Given the description of an element on the screen output the (x, y) to click on. 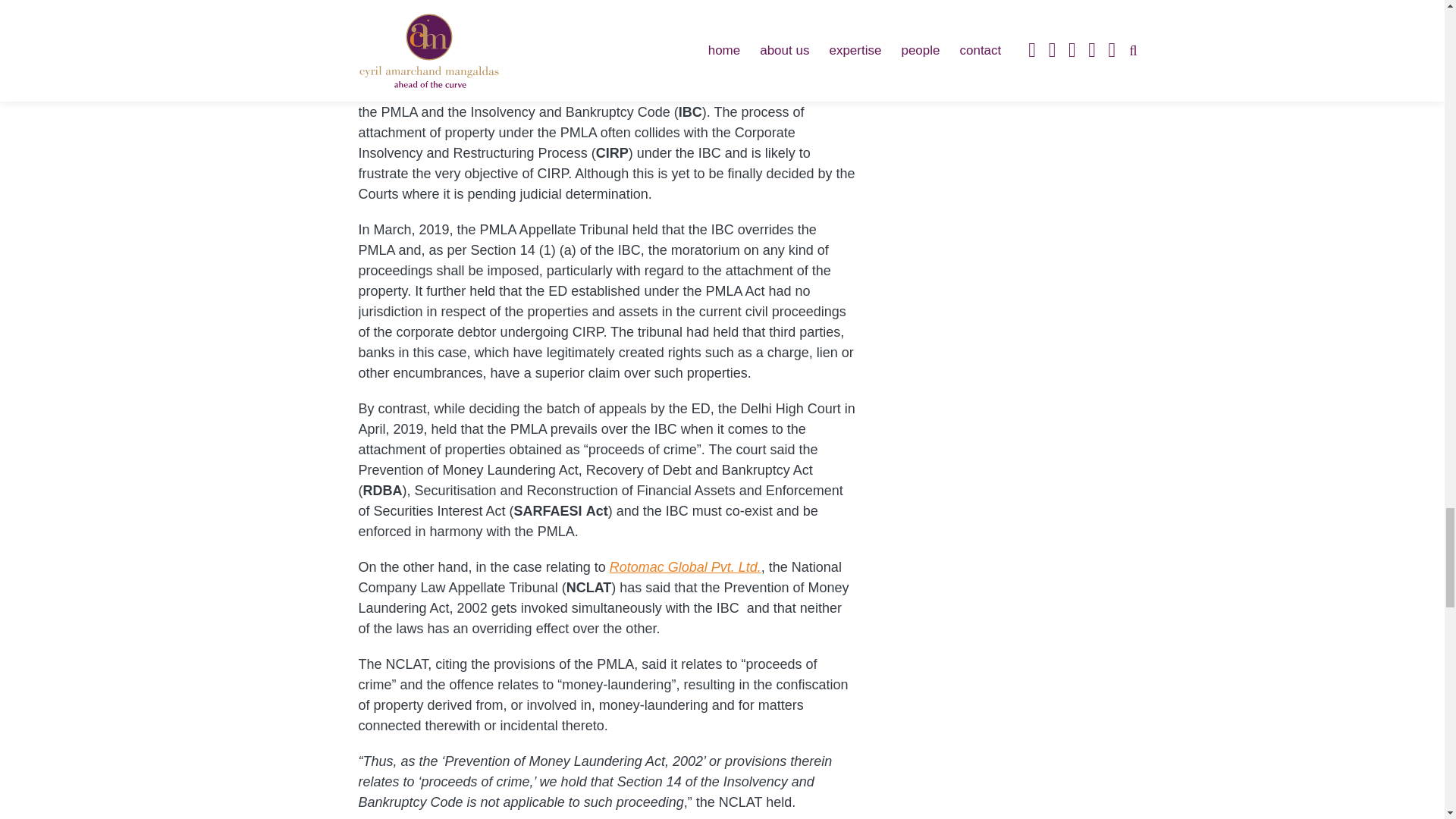
Rotomac Global Pvt. Ltd. (685, 566)
